Given the description of an element on the screen output the (x, y) to click on. 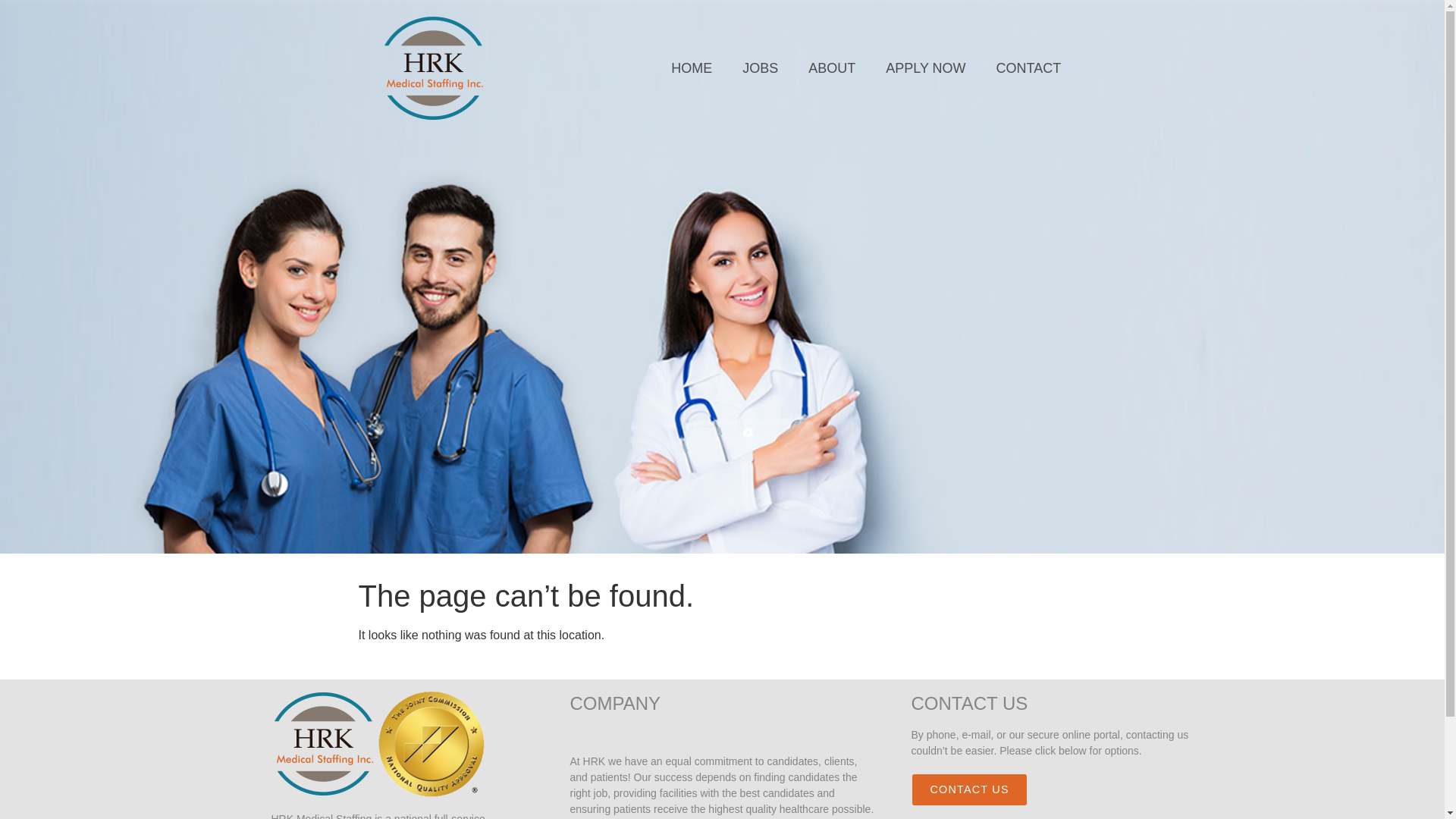
HOME (691, 67)
CONTACT US (969, 789)
APPLY NOW (924, 67)
CONTACT (1029, 67)
ABOUT (831, 67)
JOBS (759, 67)
